Given the description of an element on the screen output the (x, y) to click on. 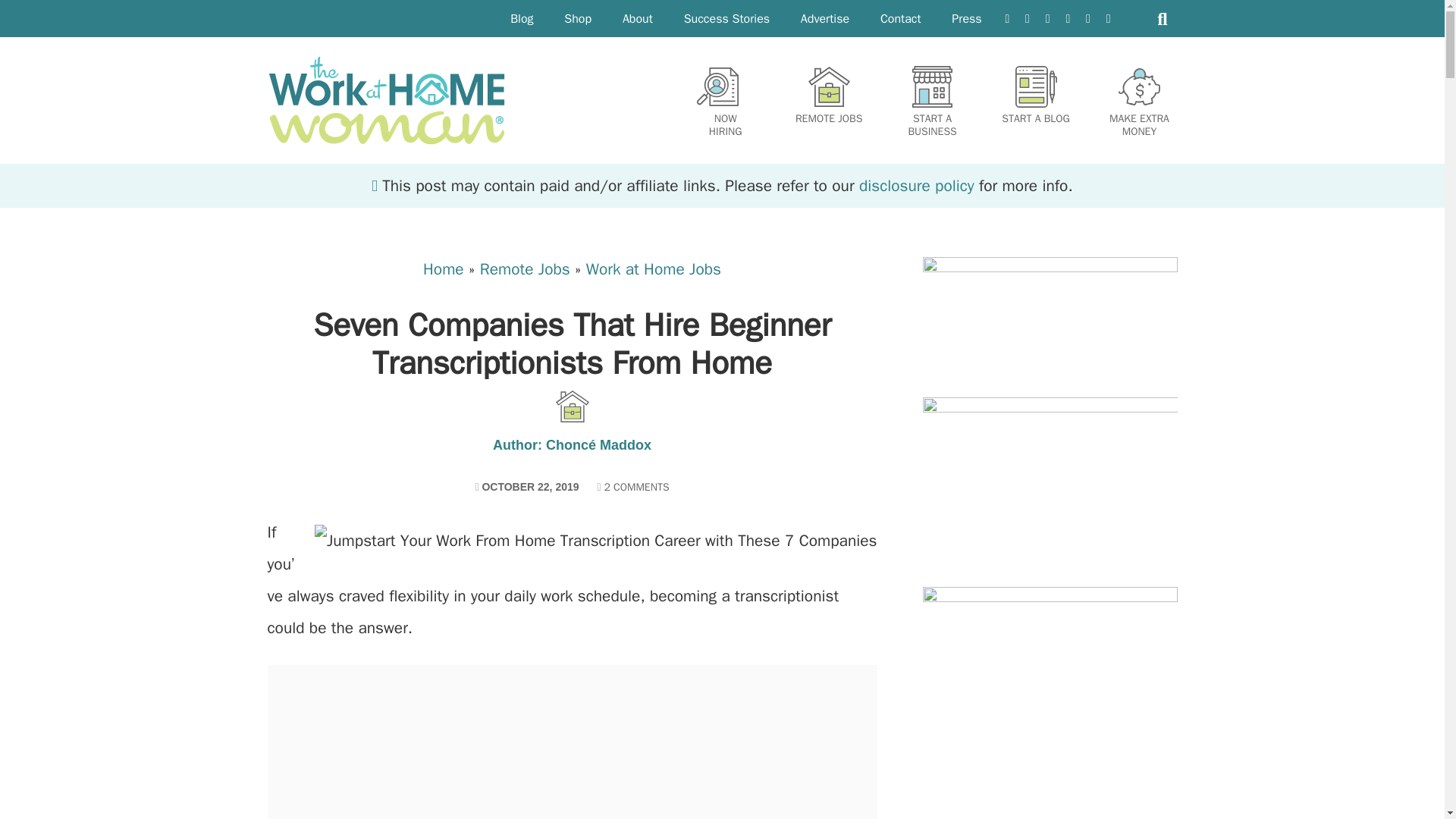
Success Stories (727, 18)
START A BUSINESS (933, 102)
START A BLOG (1035, 96)
REMOTE JOBS (828, 96)
About (637, 18)
Contact (901, 18)
About (637, 18)
Advertise (825, 18)
Contact (901, 18)
